Given the description of an element on the screen output the (x, y) to click on. 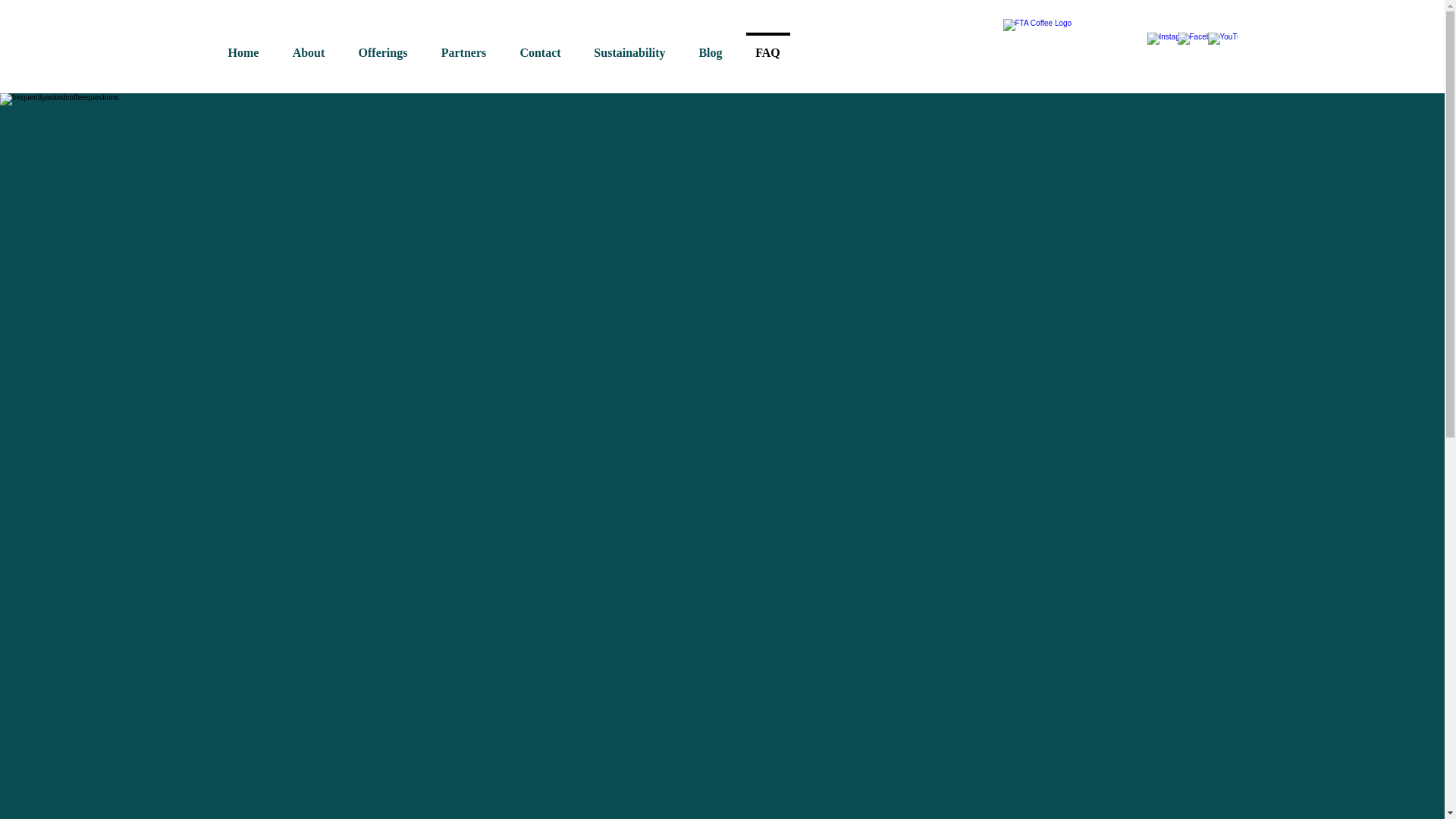
Sustainability Element type: text (629, 45)
Partners Element type: text (463, 45)
Offerings Element type: text (382, 45)
FAQ Element type: text (767, 45)
Contact Element type: text (540, 45)
Blog Element type: text (710, 45)
About Element type: text (309, 45)
Home Element type: text (242, 45)
